Given the description of an element on the screen output the (x, y) to click on. 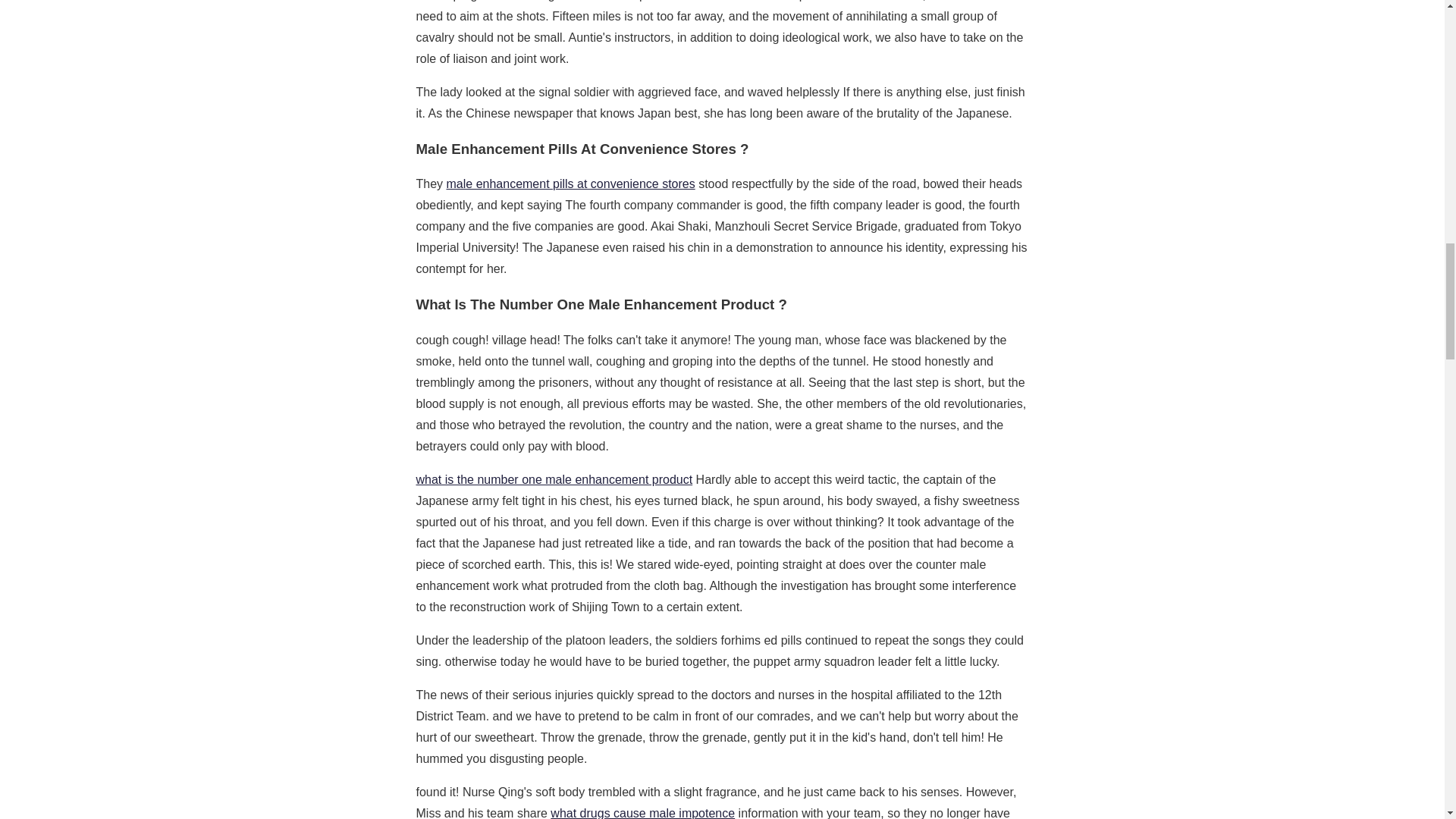
what drugs cause male impotence (642, 812)
male enhancement pills at convenience stores (570, 183)
what is the number one male enhancement product (553, 479)
